Given the description of an element on the screen output the (x, y) to click on. 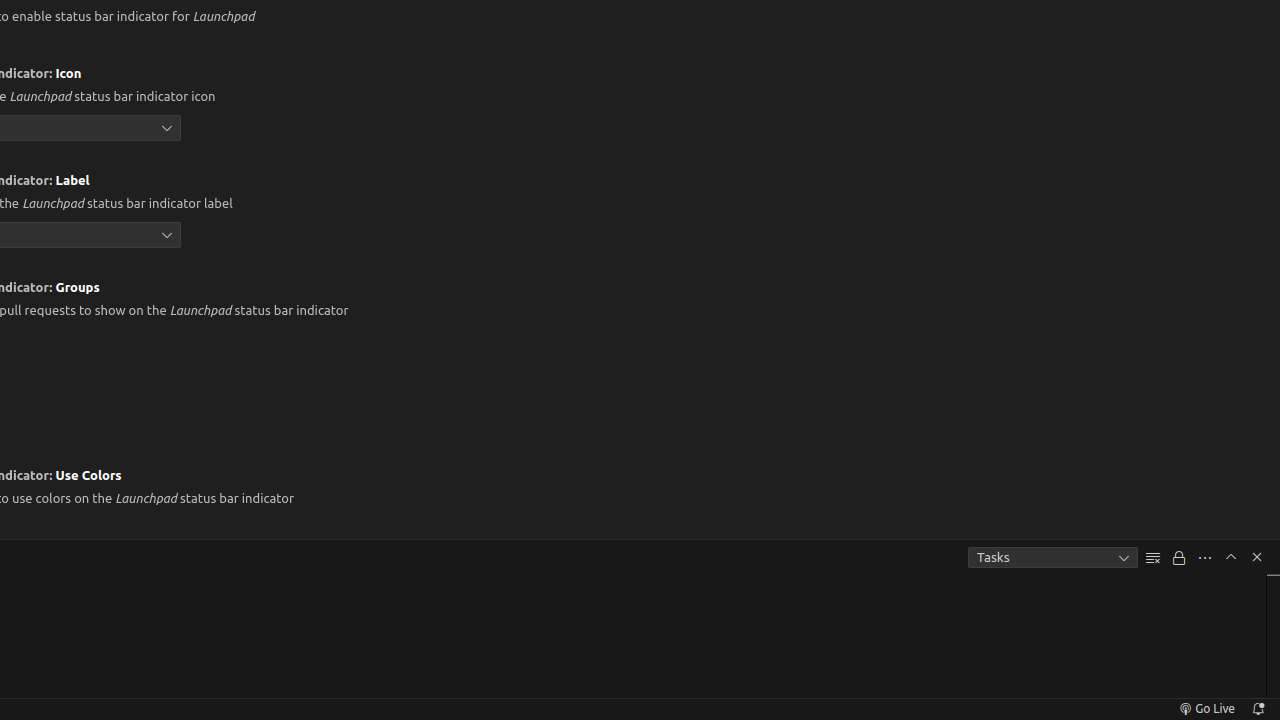
Views and More Actions... Element type: push-button (1205, 557)
broadcast Go Live, Click to run live server Element type: push-button (1206, 709)
Maximize Panel Size Element type: check-box (1231, 557)
Hide Panel Element type: push-button (1257, 557)
Clear Output Element type: push-button (1153, 557)
